Given the description of an element on the screen output the (x, y) to click on. 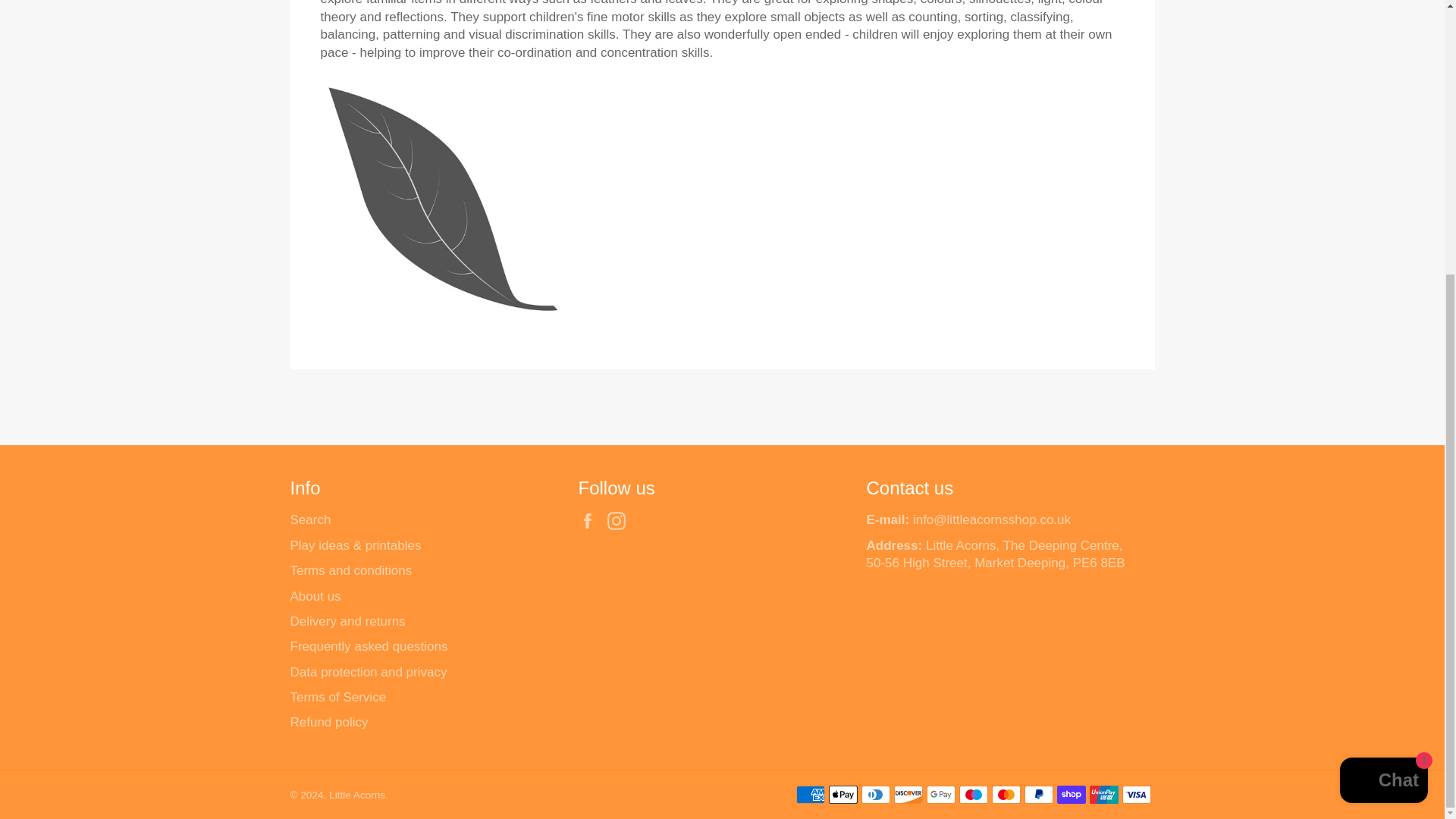
Little Acorns on Instagram (620, 520)
Little Acorns on Facebook (591, 520)
Shopify online store chat (1383, 377)
